Given the description of an element on the screen output the (x, y) to click on. 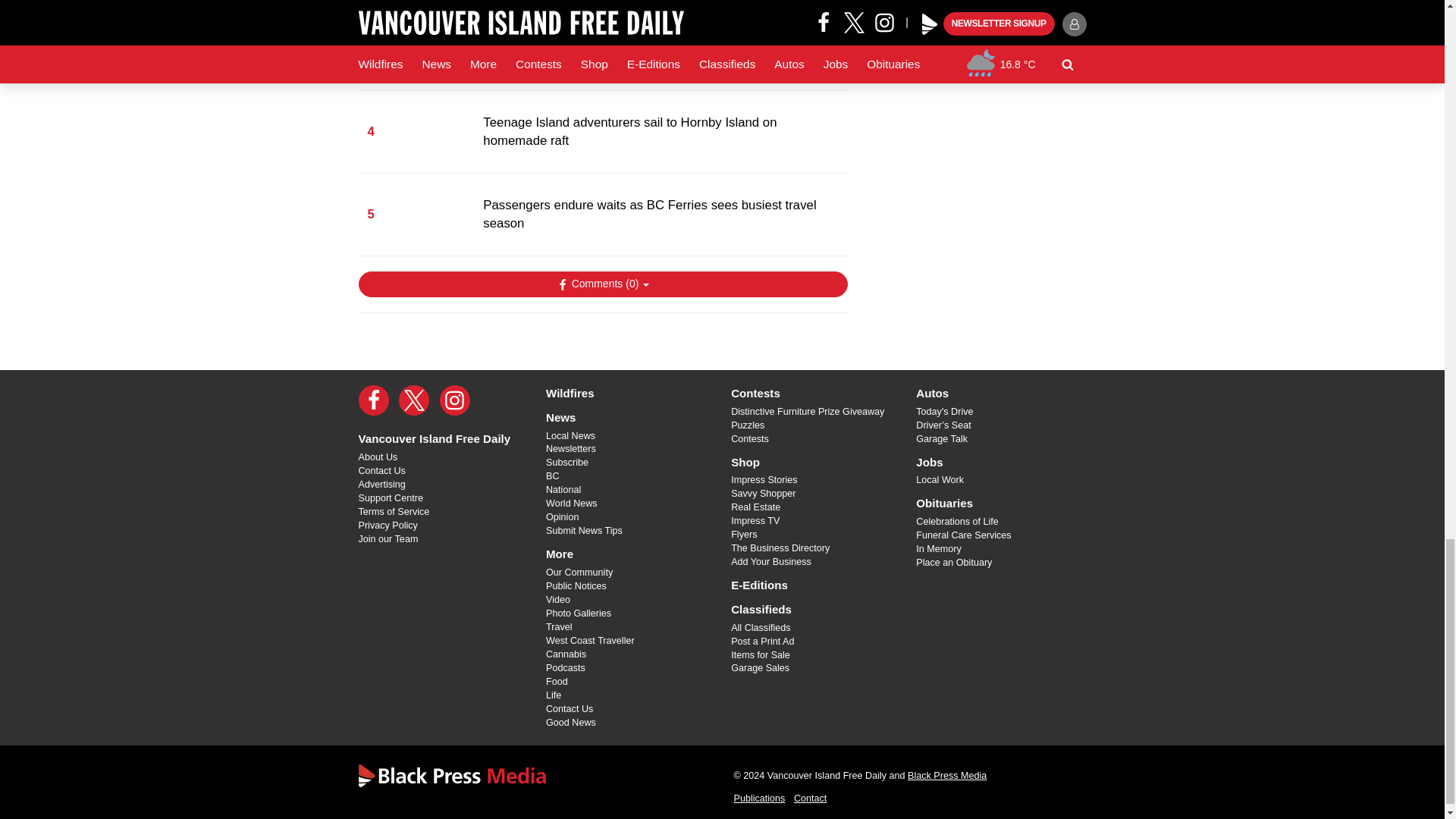
X (413, 399)
Instagram (454, 399)
Facebook (373, 399)
Show Comments (602, 284)
